Given the description of an element on the screen output the (x, y) to click on. 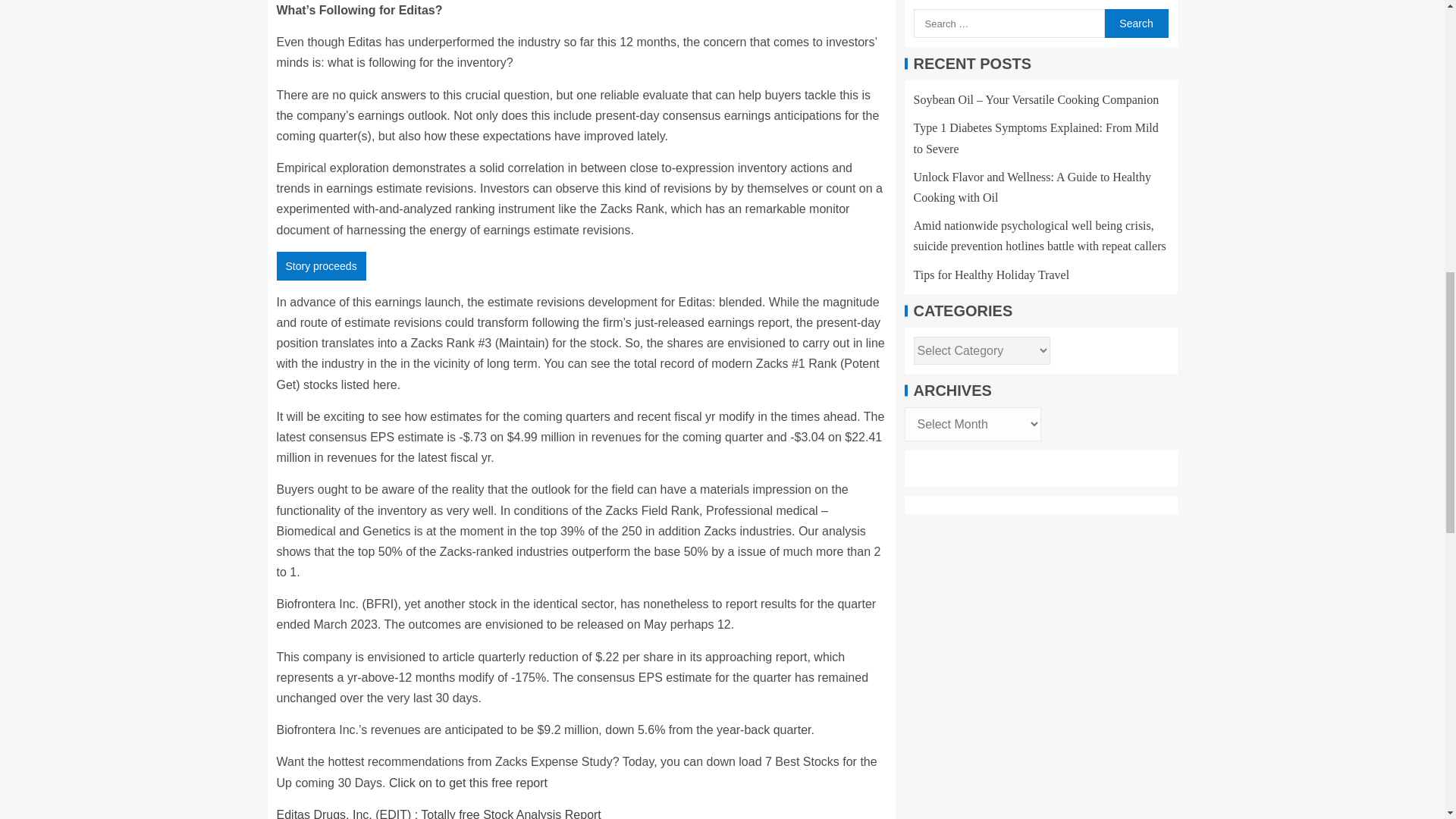
Story proceeds (320, 265)
Click on to get this free report (467, 782)
